Given the description of an element on the screen output the (x, y) to click on. 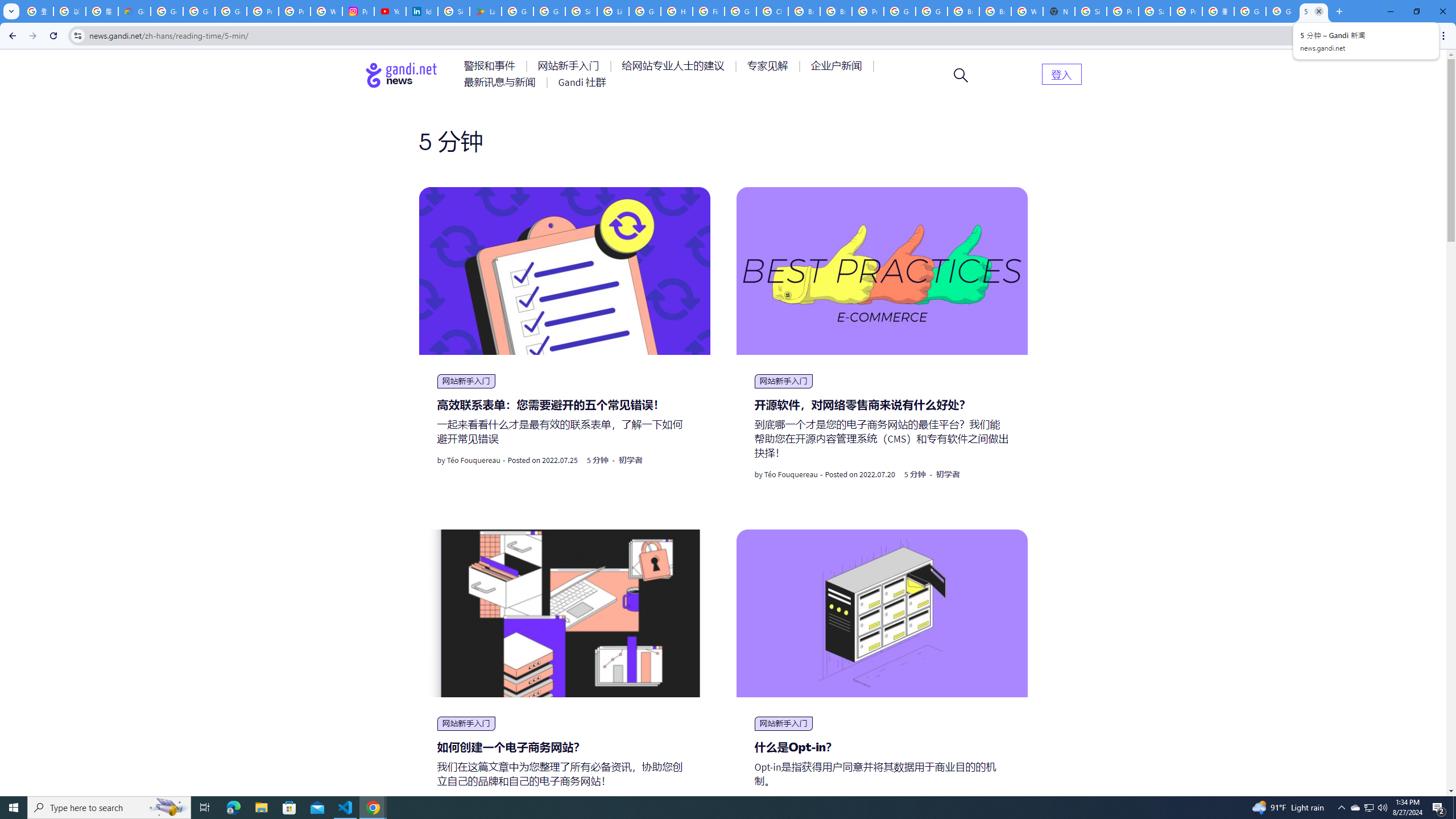
AutomationID: menu-item-77767 (581, 82)
AutomationID: menu-item-77763 (674, 65)
AutomationID: menu-item-77766 (502, 82)
Sign in - Google Accounts (581, 11)
Privacy Help Center - Policies Help (294, 11)
AutomationID: menu-item-77762 (570, 65)
Go to home (401, 75)
Google Cloud Platform (899, 11)
